Given the description of an element on the screen output the (x, y) to click on. 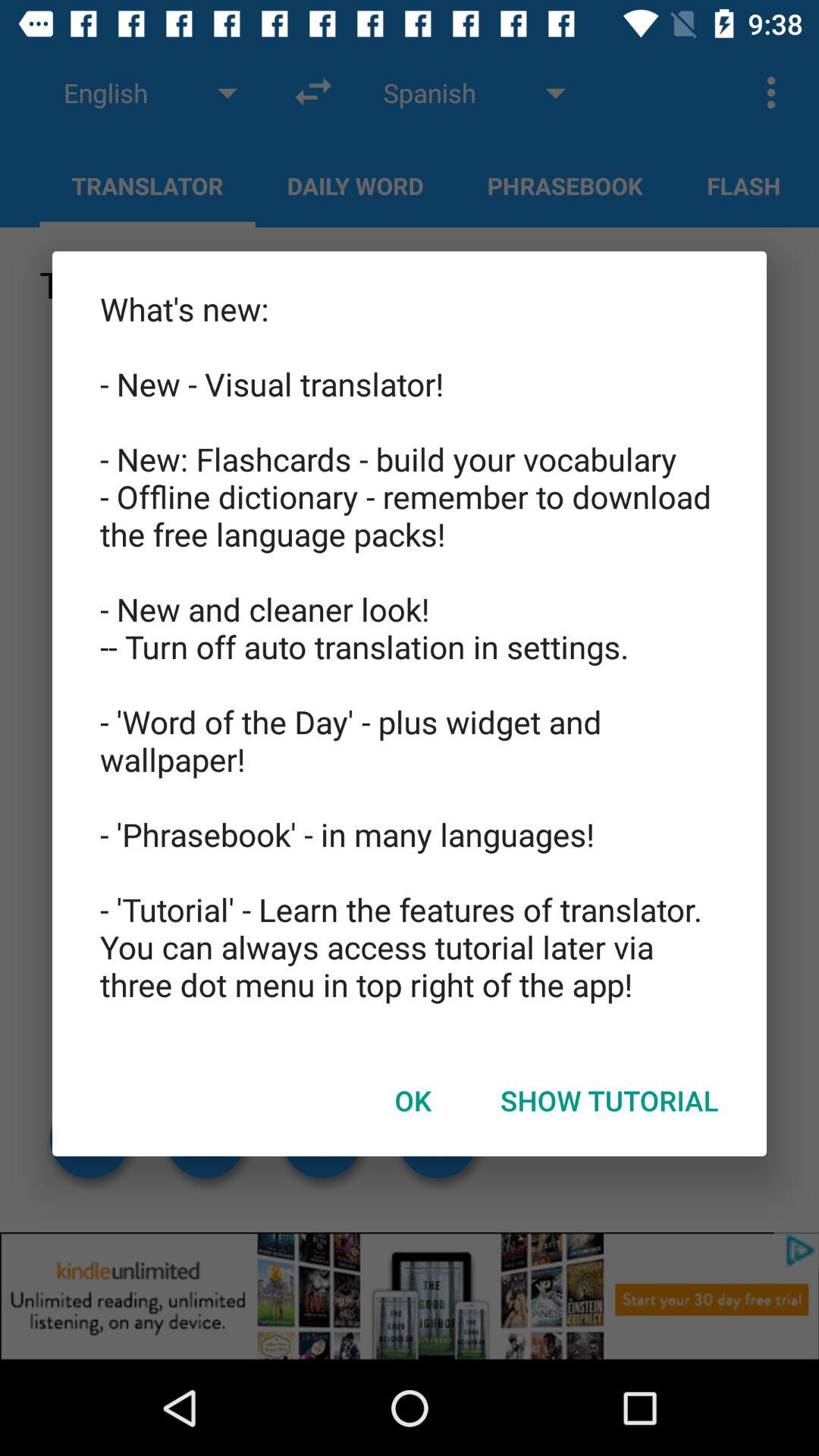
press icon below what s new (412, 1100)
